Given the description of an element on the screen output the (x, y) to click on. 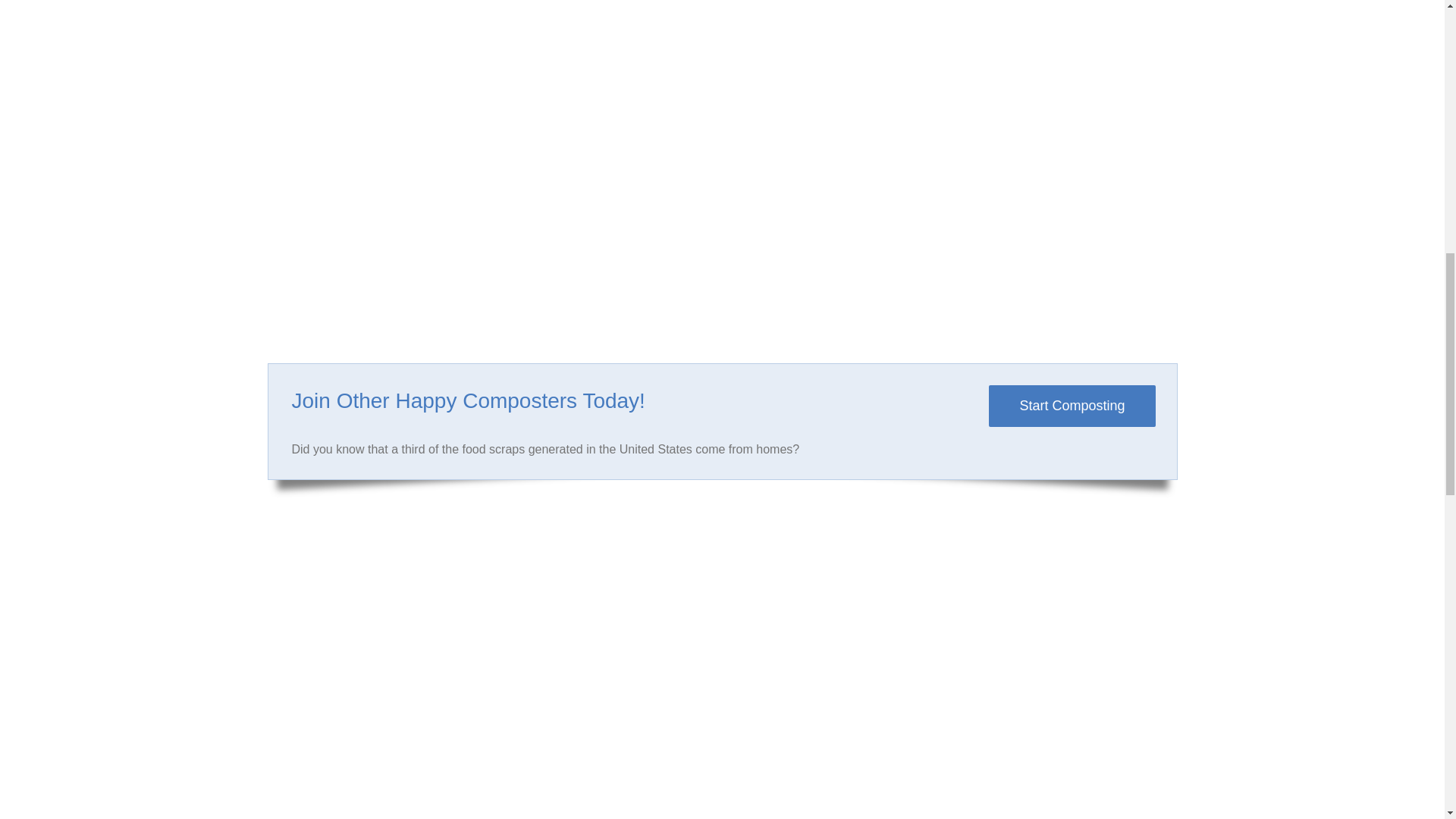
Start Composting (1071, 405)
